Given the description of an element on the screen output the (x, y) to click on. 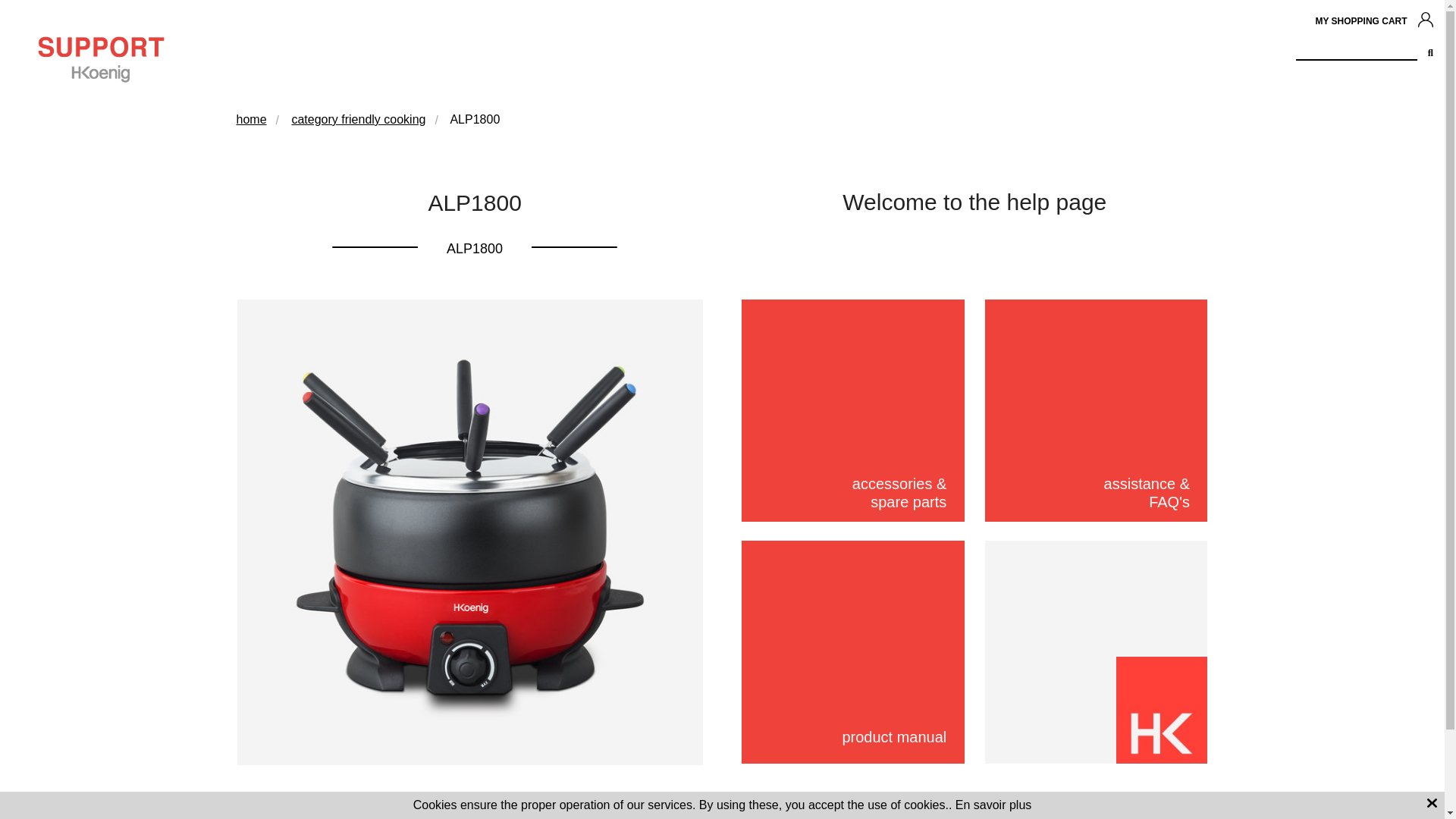
category friendly cooking (358, 119)
MY SHOPPING CART (1360, 20)
home (250, 119)
product manual (852, 651)
